Given the description of an element on the screen output the (x, y) to click on. 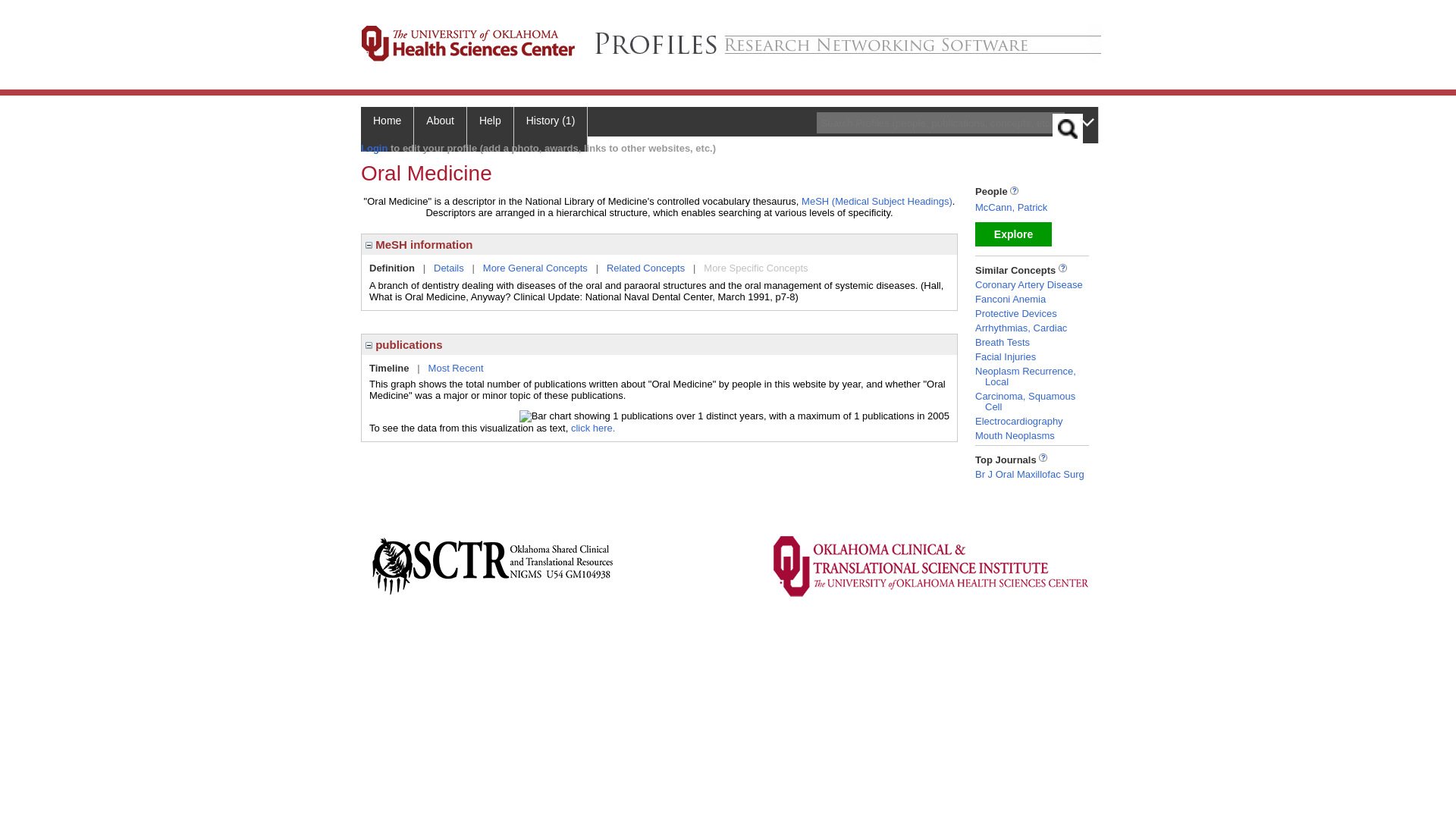
Details (448, 267)
More General Concepts (535, 267)
More Specific Concepts (755, 267)
Home (387, 129)
Definition (391, 267)
Related Concepts (645, 267)
Help (490, 129)
About (440, 129)
Login (374, 147)
